Given the description of an element on the screen output the (x, y) to click on. 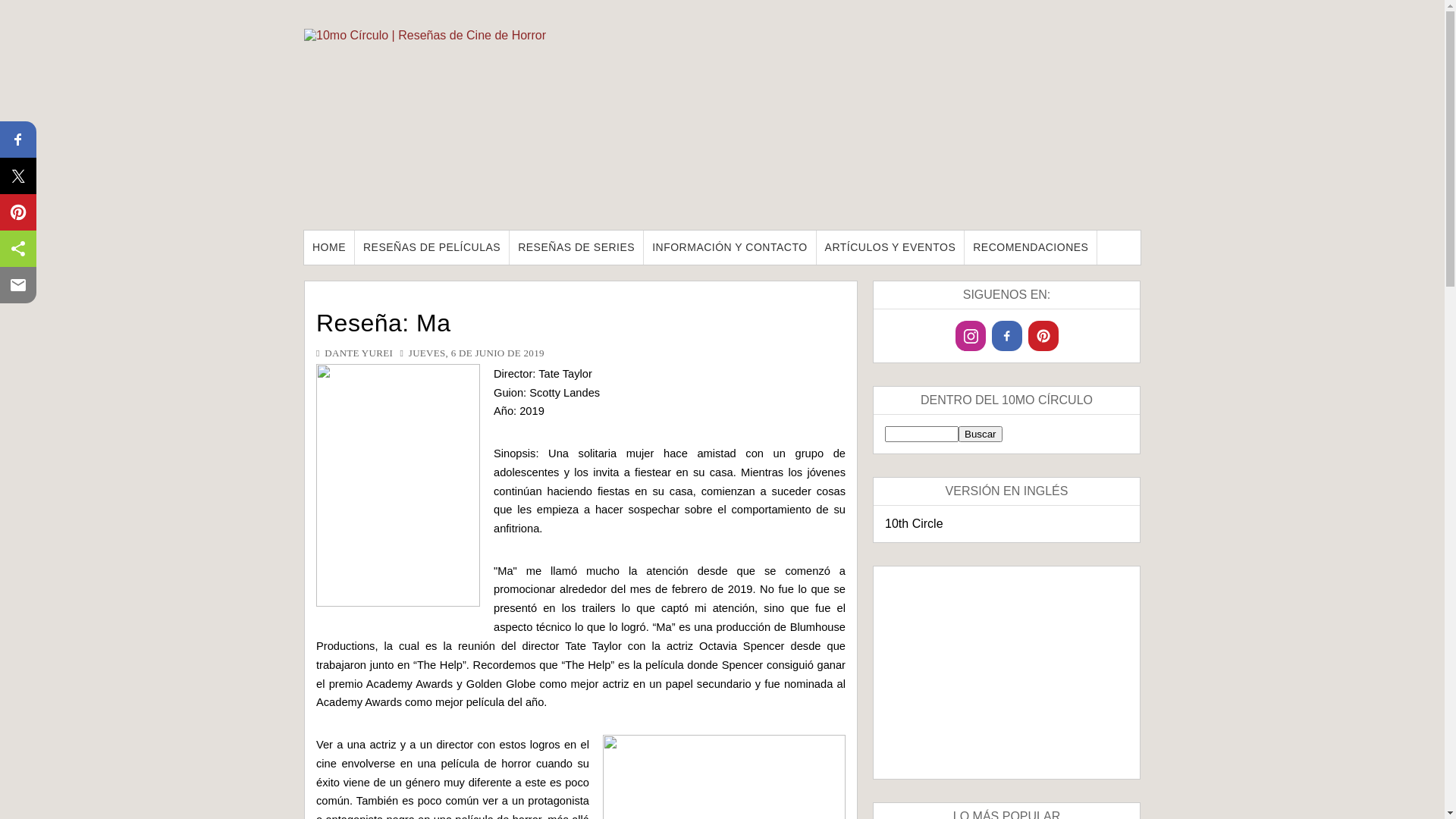
10th Circle Element type: text (913, 523)
HOME Element type: text (329, 247)
Buscar Element type: text (979, 434)
Advertisement Element type: hover (1006, 672)
RECOMENDACIONES Element type: text (1030, 247)
JUEVES, 6 DE JUNIO DE 2019 Element type: text (476, 353)
search Element type: hover (921, 434)
search Element type: hover (979, 434)
DANTE YUREI Element type: text (358, 353)
